Given the description of an element on the screen output the (x, y) to click on. 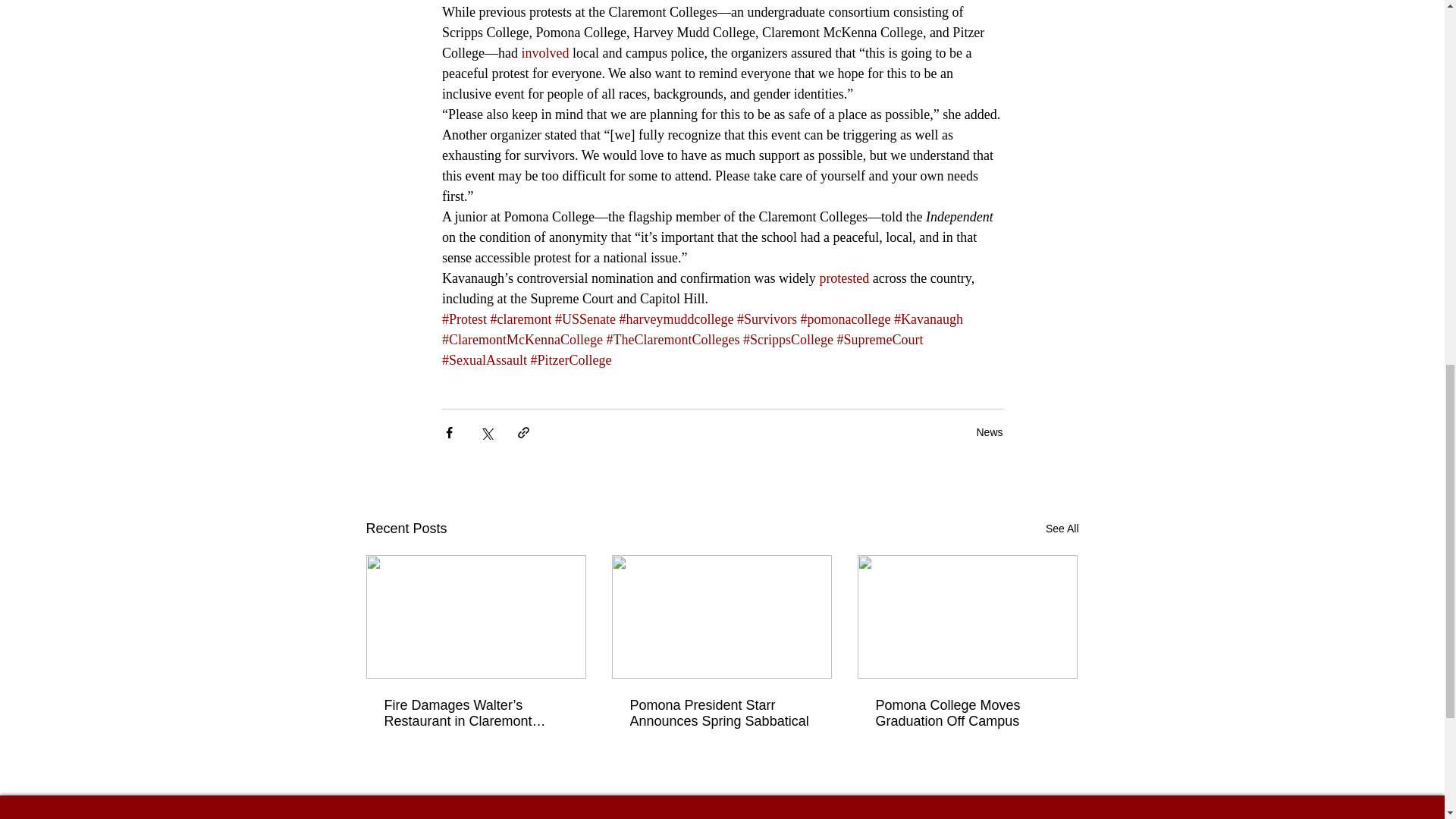
involved (545, 52)
protested (843, 278)
Pomona President Starr Announces Spring Sabbatical (720, 713)
Pomona College Moves Graduation Off Campus (966, 713)
See All (1061, 528)
News (989, 431)
